Given the description of an element on the screen output the (x, y) to click on. 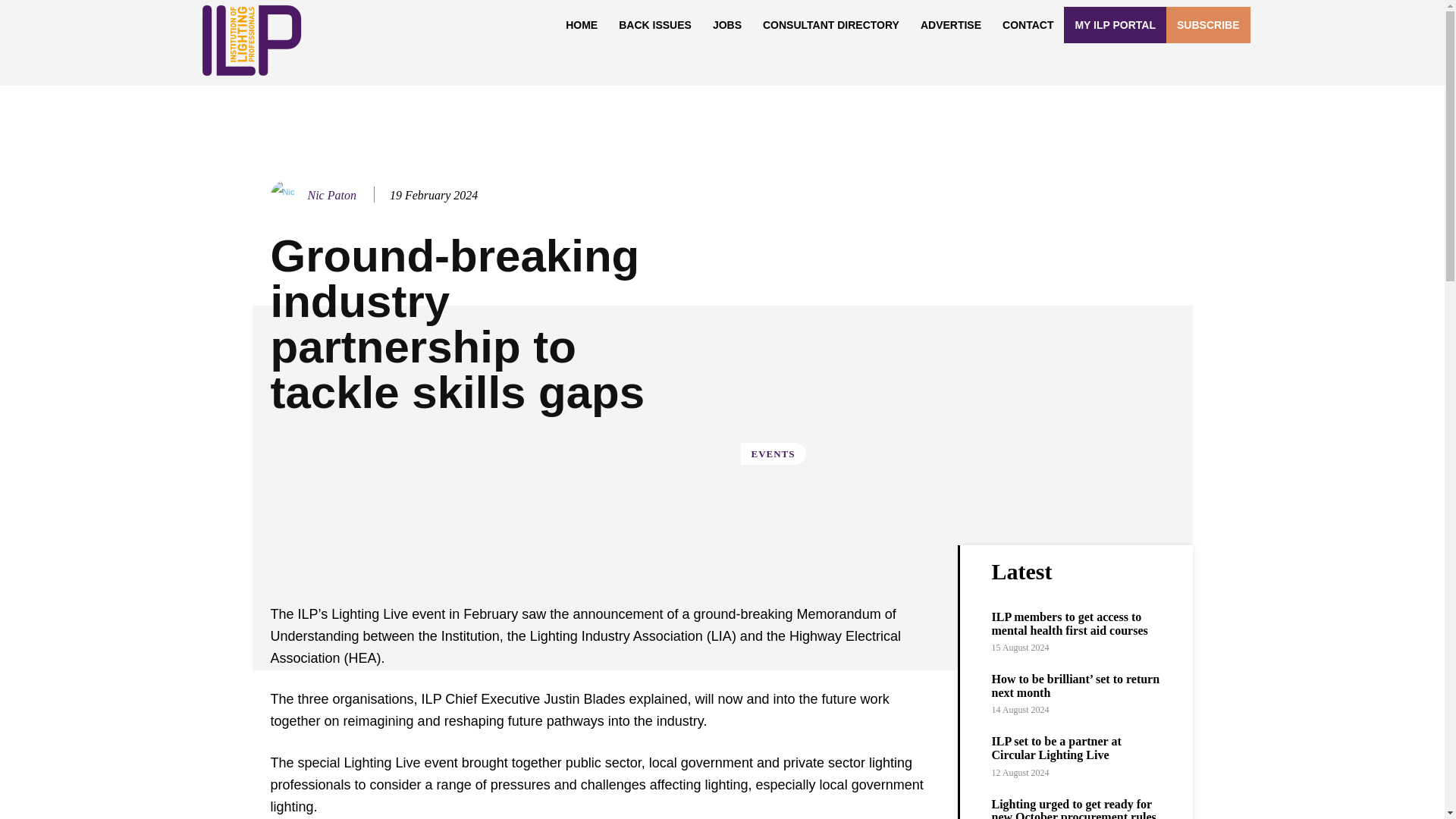
ADVERTISE (950, 23)
Nic Paton (331, 195)
SUBSCRIBE (1207, 23)
HOME (581, 23)
ILP-logo-header (250, 40)
ILP members to get access to mental health first aid courses (1069, 623)
Nic Paton (286, 195)
MY ILP PORTAL (1115, 23)
CONSULTANT DIRECTORY (831, 23)
BACK ISSUES (654, 23)
